Given the description of an element on the screen output the (x, y) to click on. 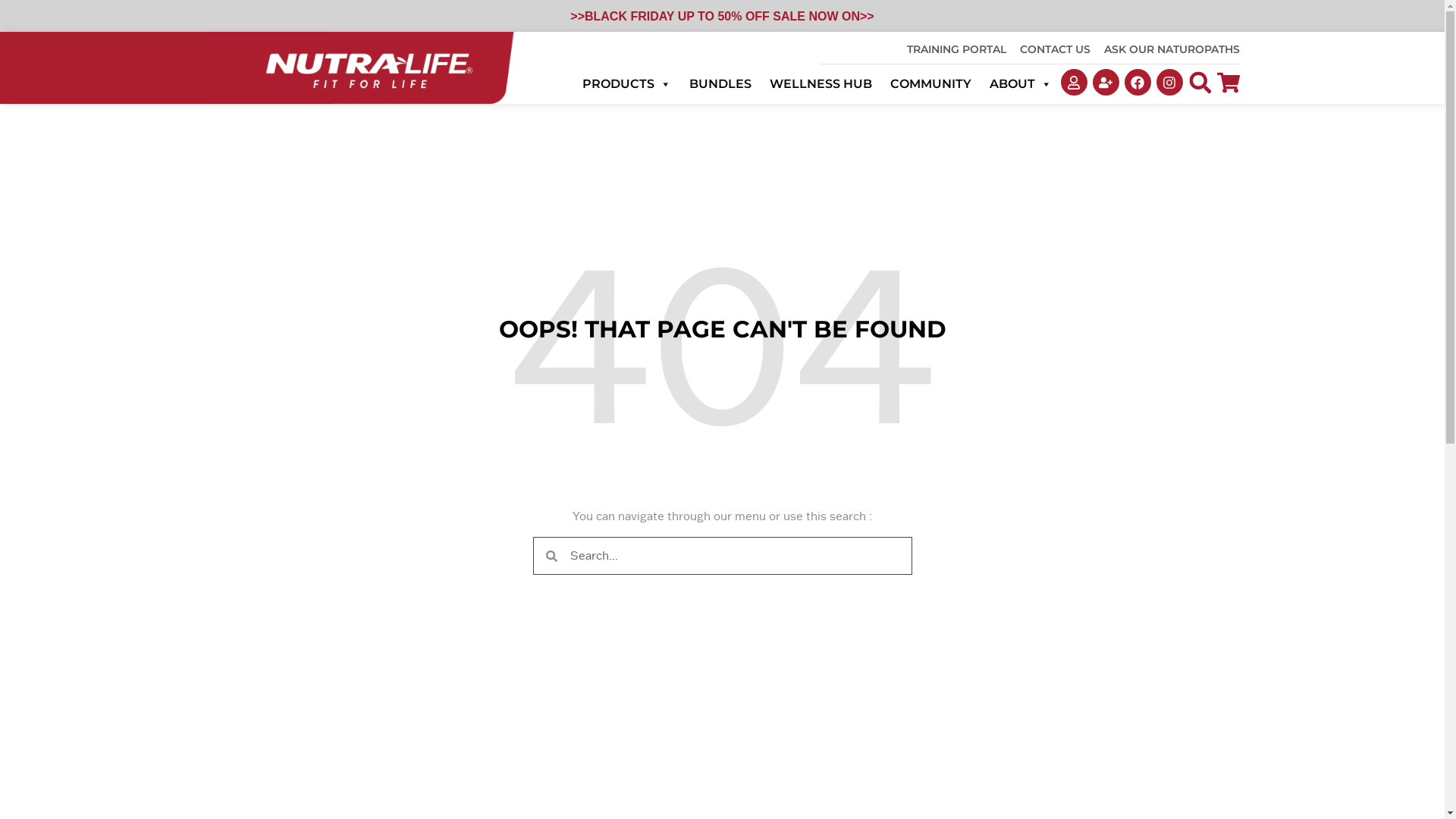
ABOUT Element type: text (1020, 83)
CONTACT US Element type: text (1054, 48)
TRAINING PORTAL Element type: text (956, 48)
WELLNESS HUB Element type: text (820, 83)
ASK OUR NATUROPATHS Element type: text (1171, 48)
PRODUCTS Element type: text (626, 83)
COMMUNITY Element type: text (930, 83)
BUNDLES Element type: text (720, 83)
